Given the description of an element on the screen output the (x, y) to click on. 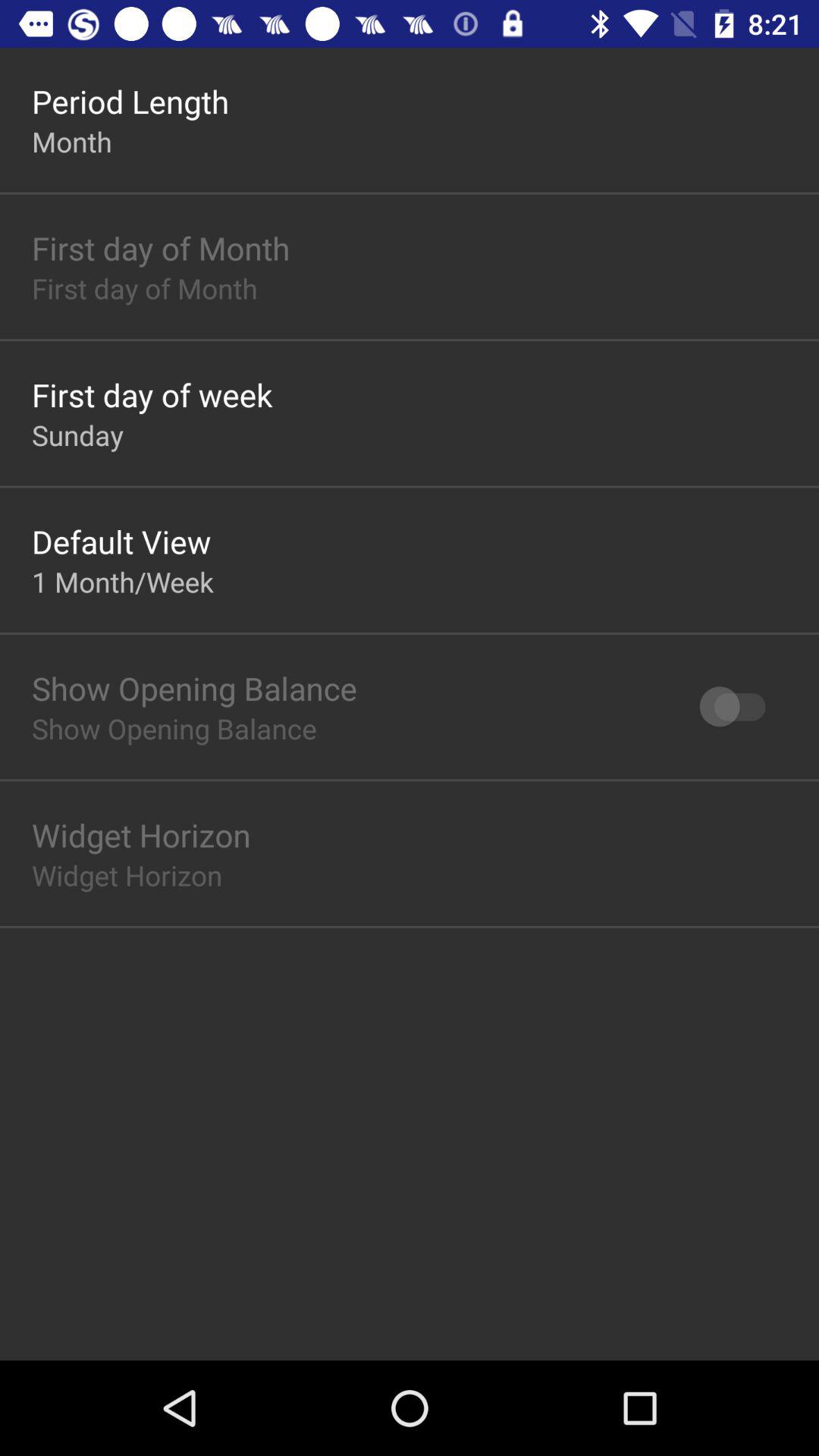
choose item above default view app (77, 434)
